Given the description of an element on the screen output the (x, y) to click on. 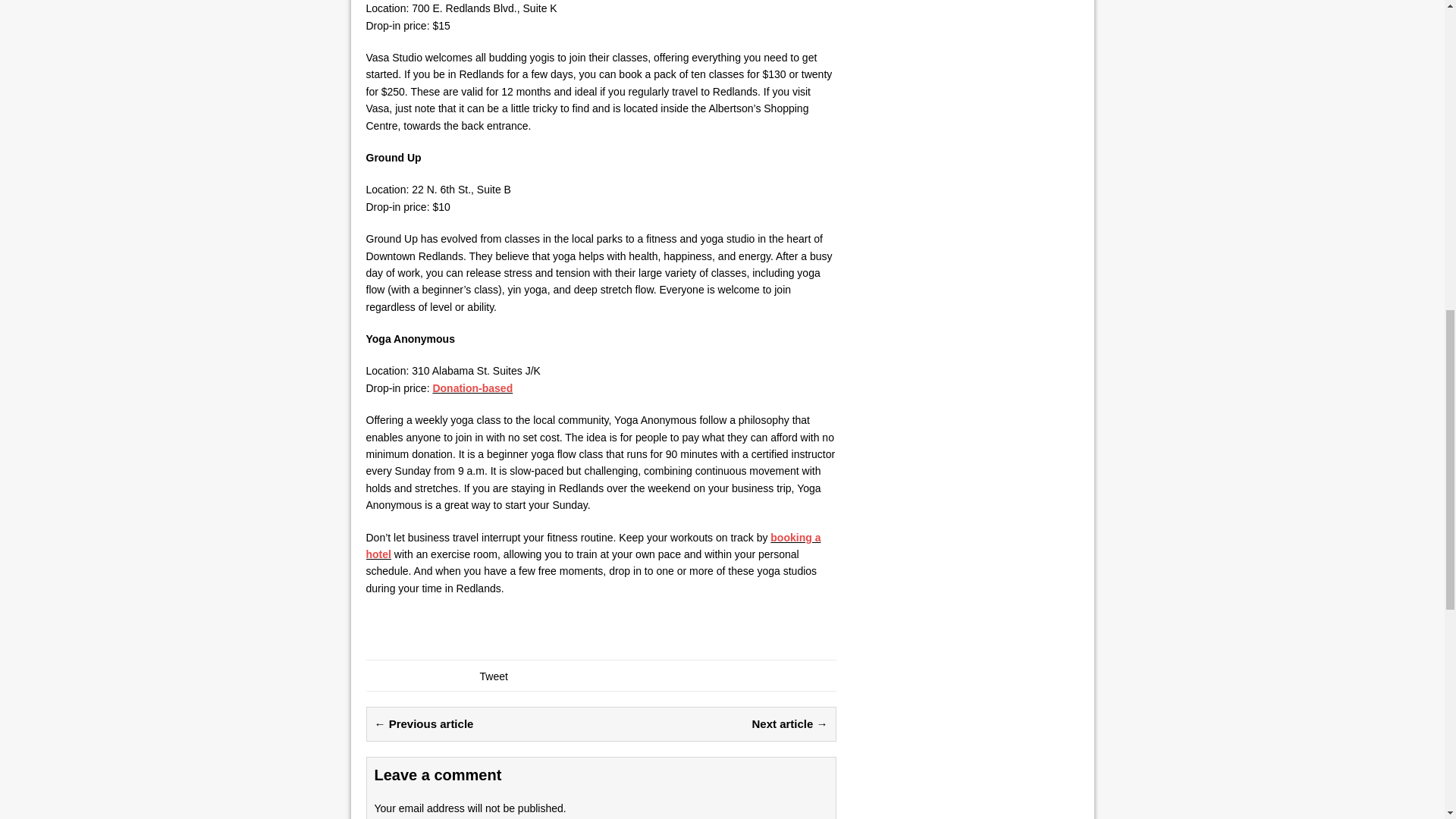
Donation-based (472, 387)
booking a hotel (593, 545)
Tweet (492, 676)
